Given the description of an element on the screen output the (x, y) to click on. 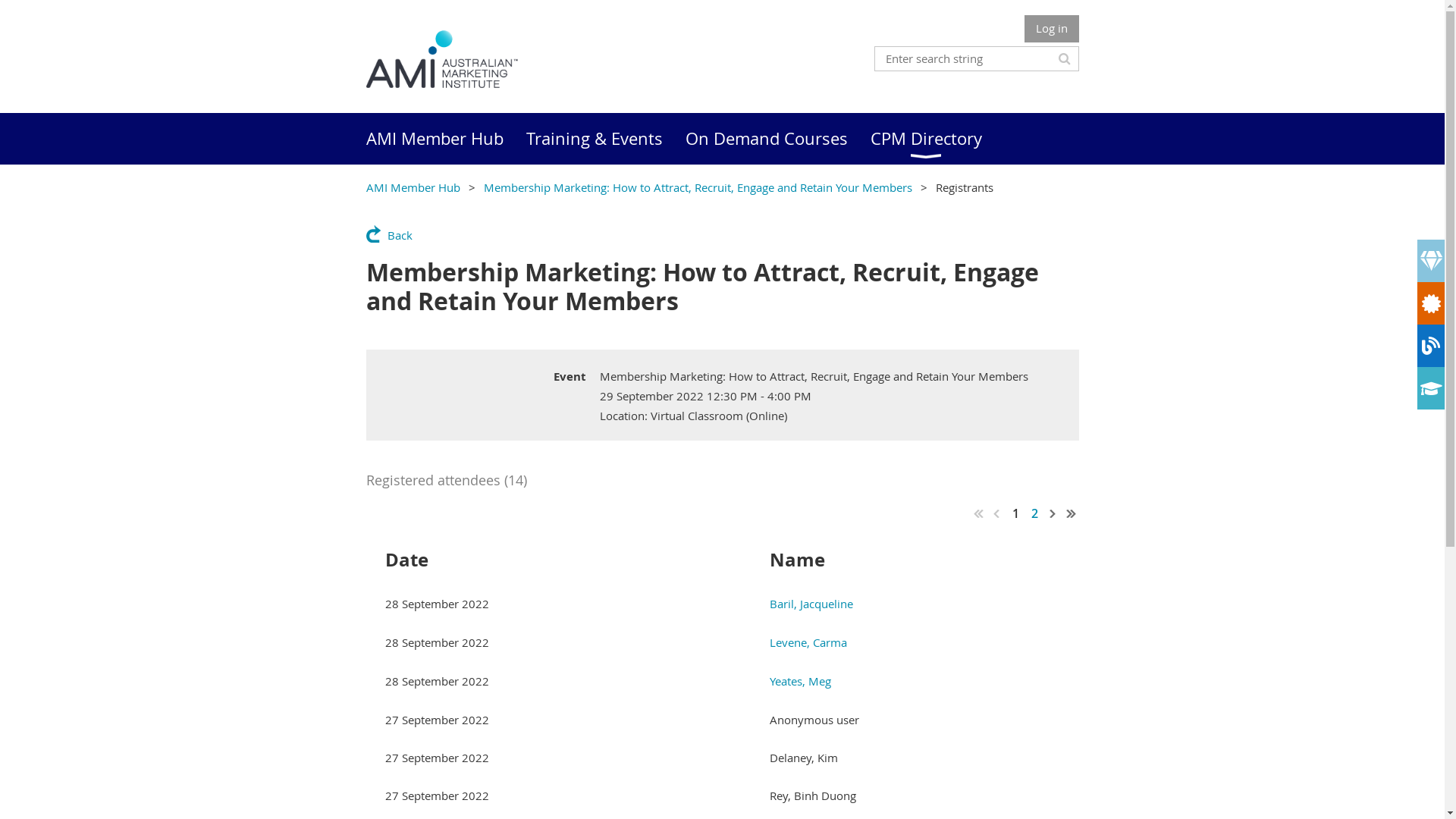
Log in Element type: text (1050, 28)
Last >>  Element type: text (1070, 512)
Baril, Jacqueline Element type: text (811, 603)
28 September 2022
Yeates, Meg Element type: text (721, 681)
AMI Member Hub Element type: text (412, 186)
28 September 2022
Levene, Carma Element type: text (721, 642)
Training & Events Element type: text (605, 138)
Yeates, Meg Element type: text (800, 680)
Back Element type: text (388, 233)
CPM Directory Element type: text (937, 138)
On Demand Courses Element type: text (777, 138)
Levene, Carma Element type: text (808, 641)
AMI Member Hub Element type: text (445, 138)
28 September 2022
Baril, Jacqueline Element type: text (721, 603)
 Next >  Element type: text (1052, 512)
 2  Element type: text (1034, 512)
